Given the description of an element on the screen output the (x, y) to click on. 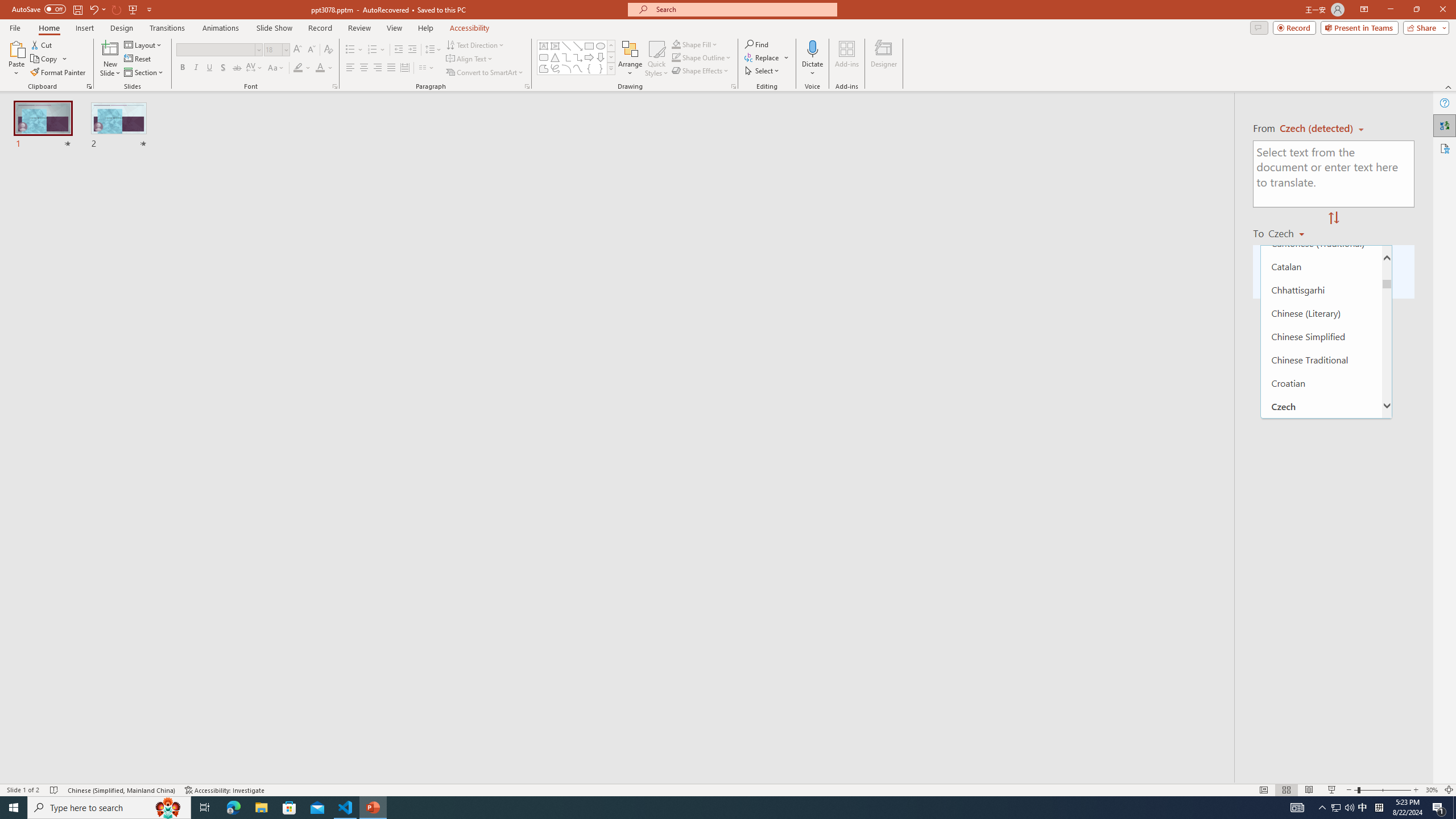
Swap "from" and "to" languages. (1333, 218)
Filipino (1320, 638)
Shape Fill Dark Green, Accent 2 (675, 44)
English (1320, 545)
Shape Outline Green, Accent 1 (675, 56)
